Given the description of an element on the screen output the (x, y) to click on. 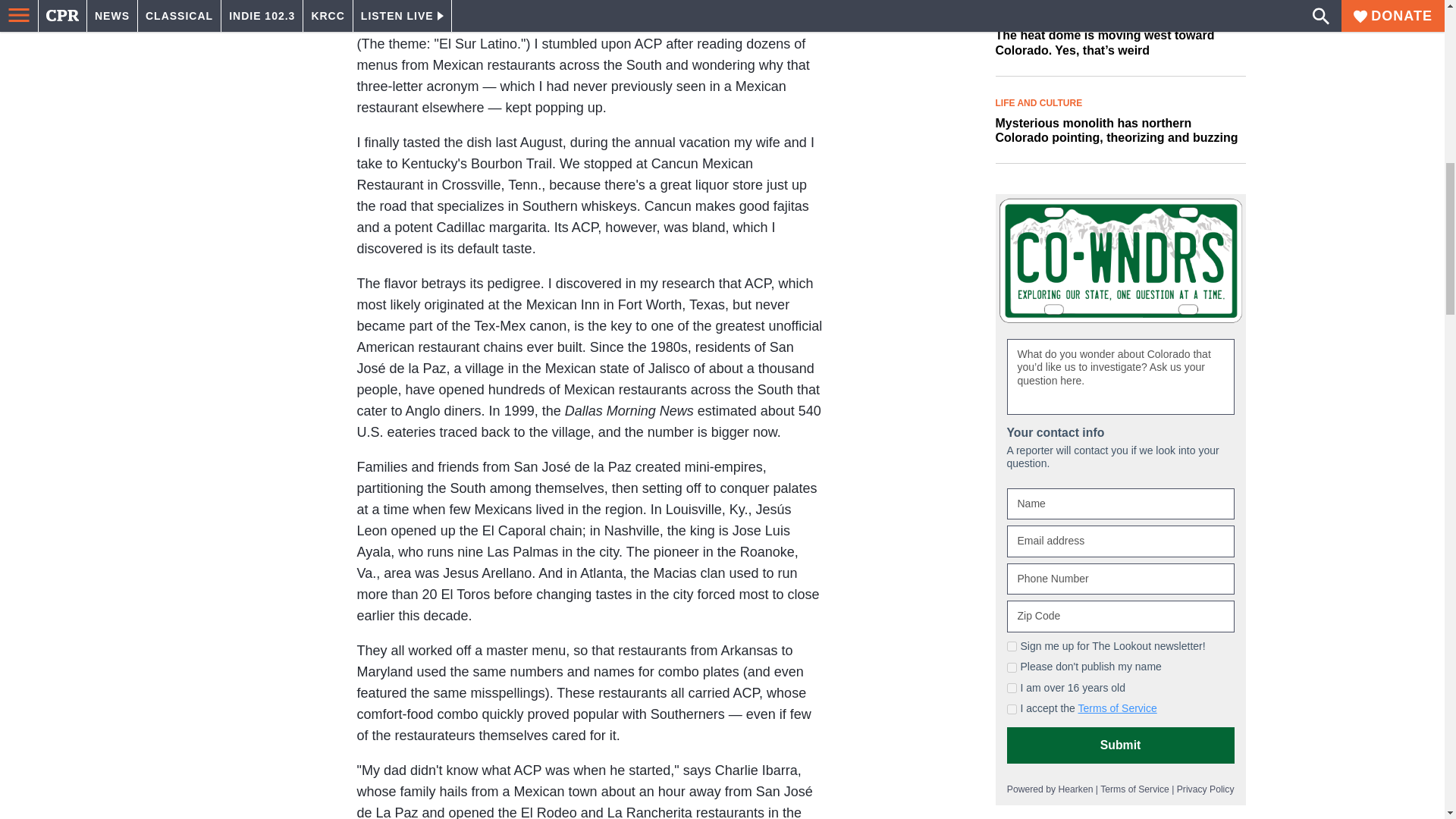
on (1011, 667)
on (1011, 709)
on (1011, 687)
on (1011, 646)
